Given the description of an element on the screen output the (x, y) to click on. 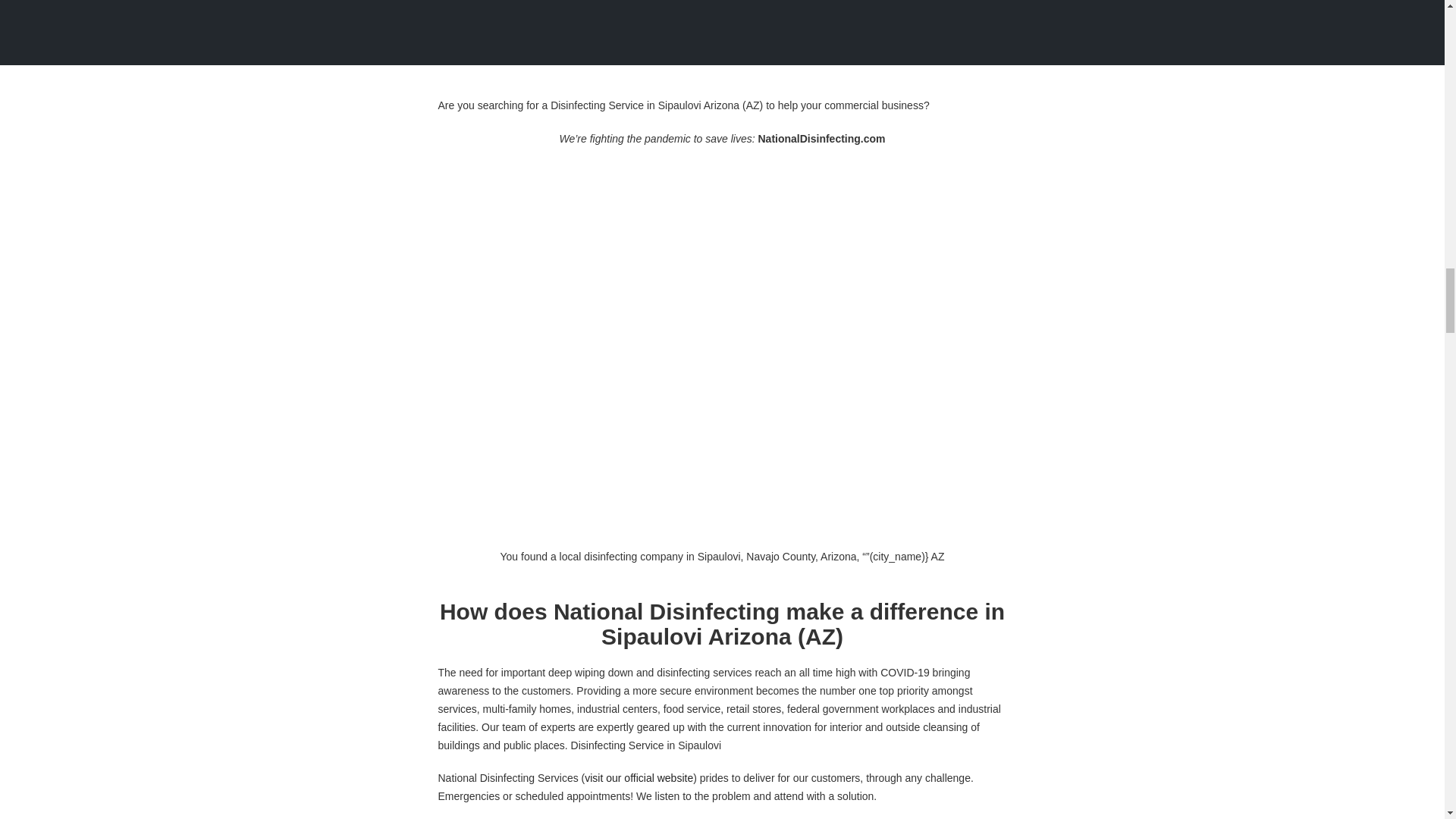
visit our official website (1391, 711)
